Given the description of an element on the screen output the (x, y) to click on. 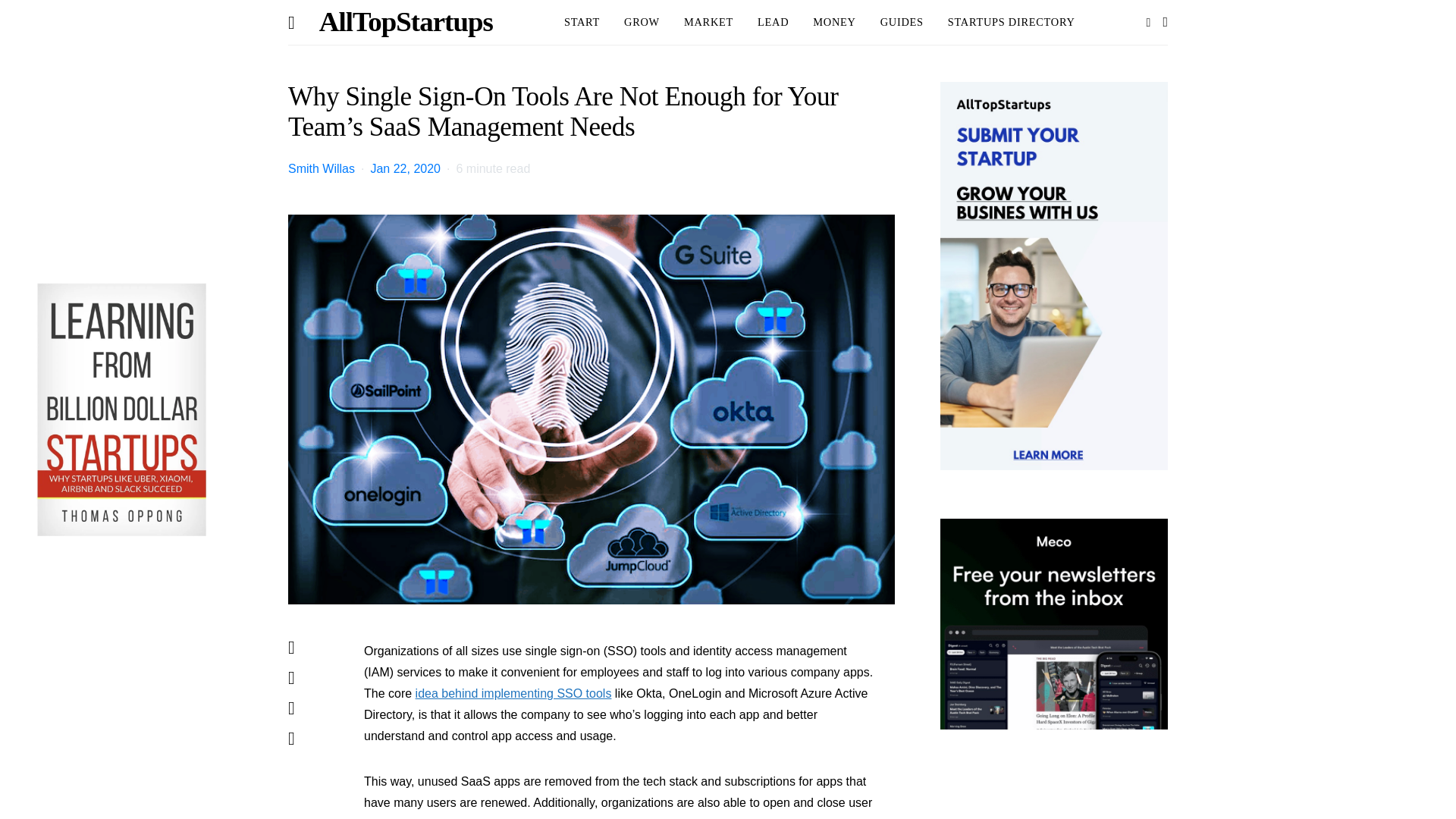
Smith Willas (321, 168)
View all posts by Smith Willas (321, 168)
GUIDES (901, 22)
Jan 22, 2020 (405, 168)
STARTUPS DIRECTORY (1011, 22)
MONEY (834, 22)
MARKET (708, 22)
idea behind implementing SSO tools (512, 693)
AllTopStartups (405, 22)
